Given the description of an element on the screen output the (x, y) to click on. 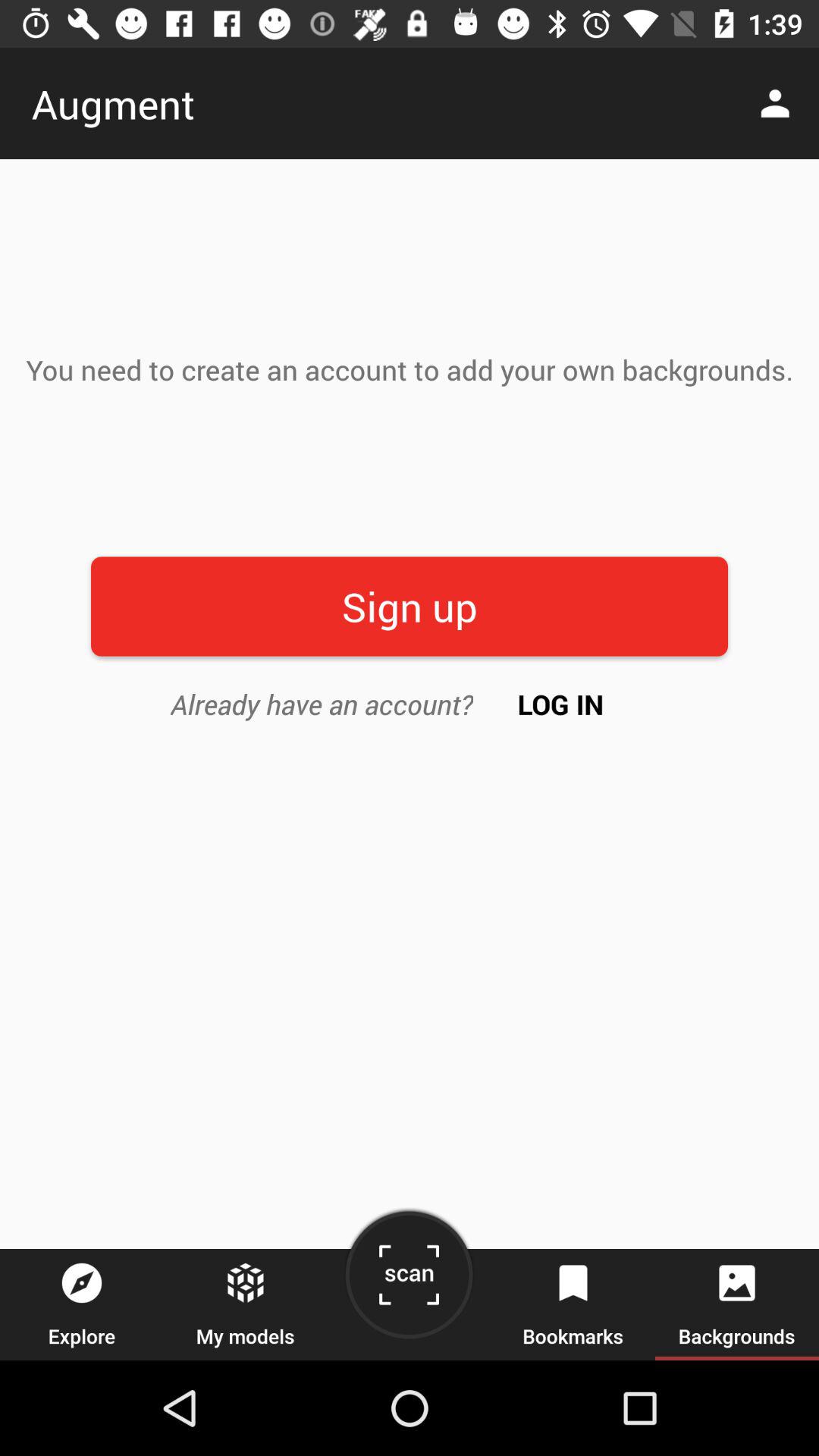
choose the item next to my models icon (408, 1280)
